Given the description of an element on the screen output the (x, y) to click on. 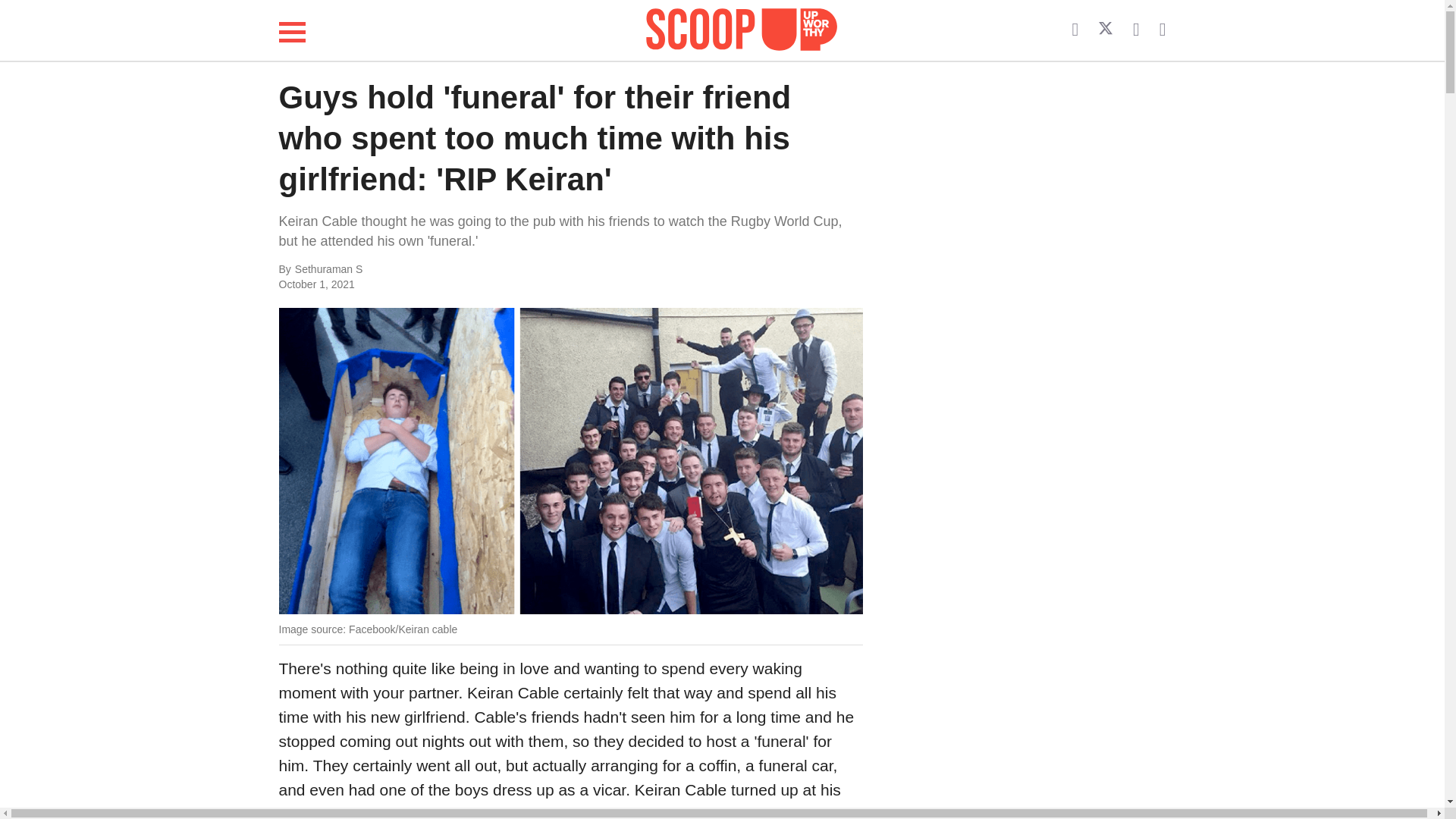
SCOOP UPWORTHY (741, 29)
SCOOP UPWORTHY (741, 27)
Sethuraman S (445, 269)
